Given the description of an element on the screen output the (x, y) to click on. 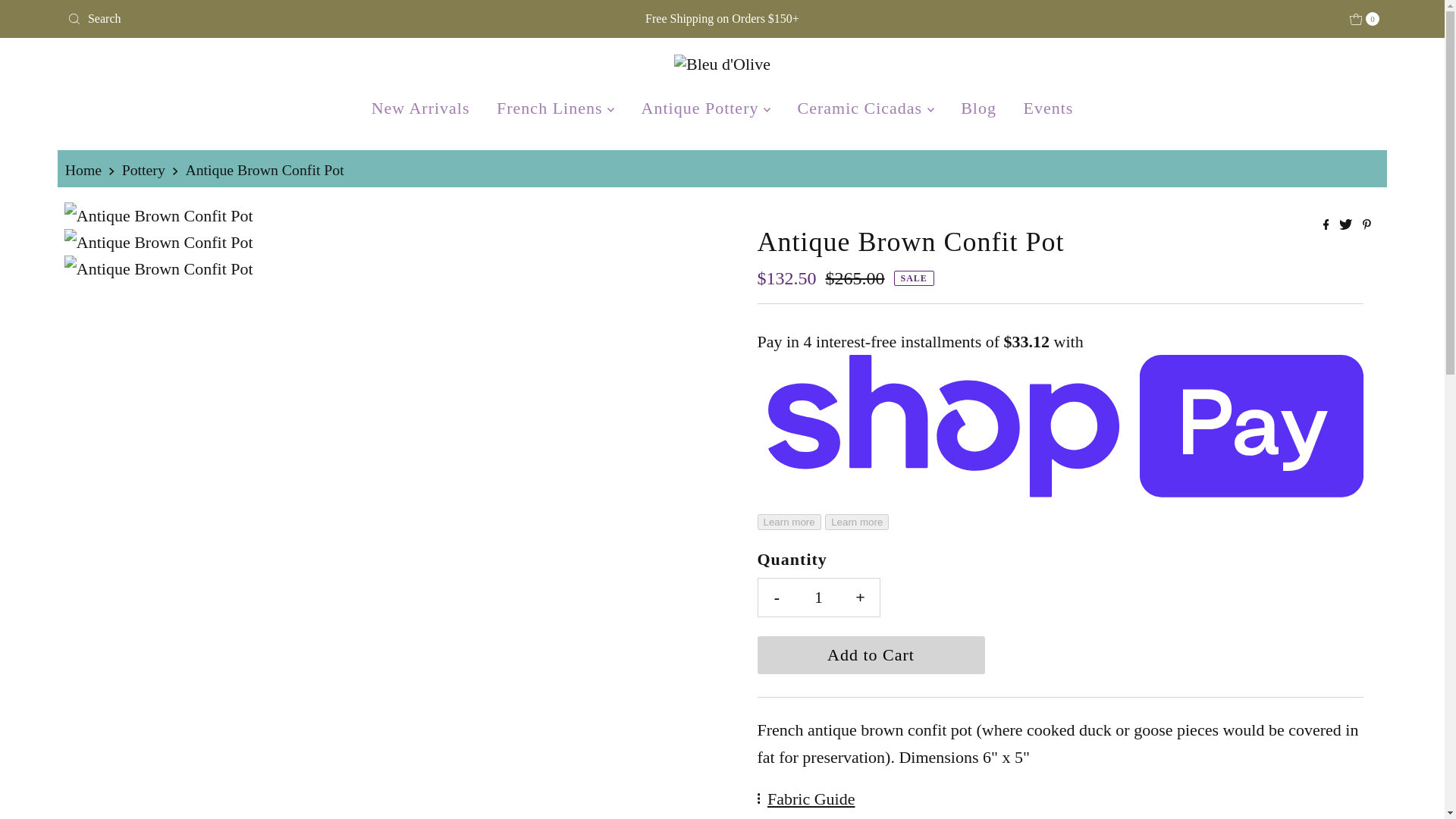
0 (1364, 18)
Pottery (145, 169)
New Arrivals (420, 108)
Add to Cart (870, 655)
Back to the frontpage (84, 169)
Search our store (277, 19)
Share on Twitter (1347, 225)
1 (818, 597)
